Given the description of an element on the screen output the (x, y) to click on. 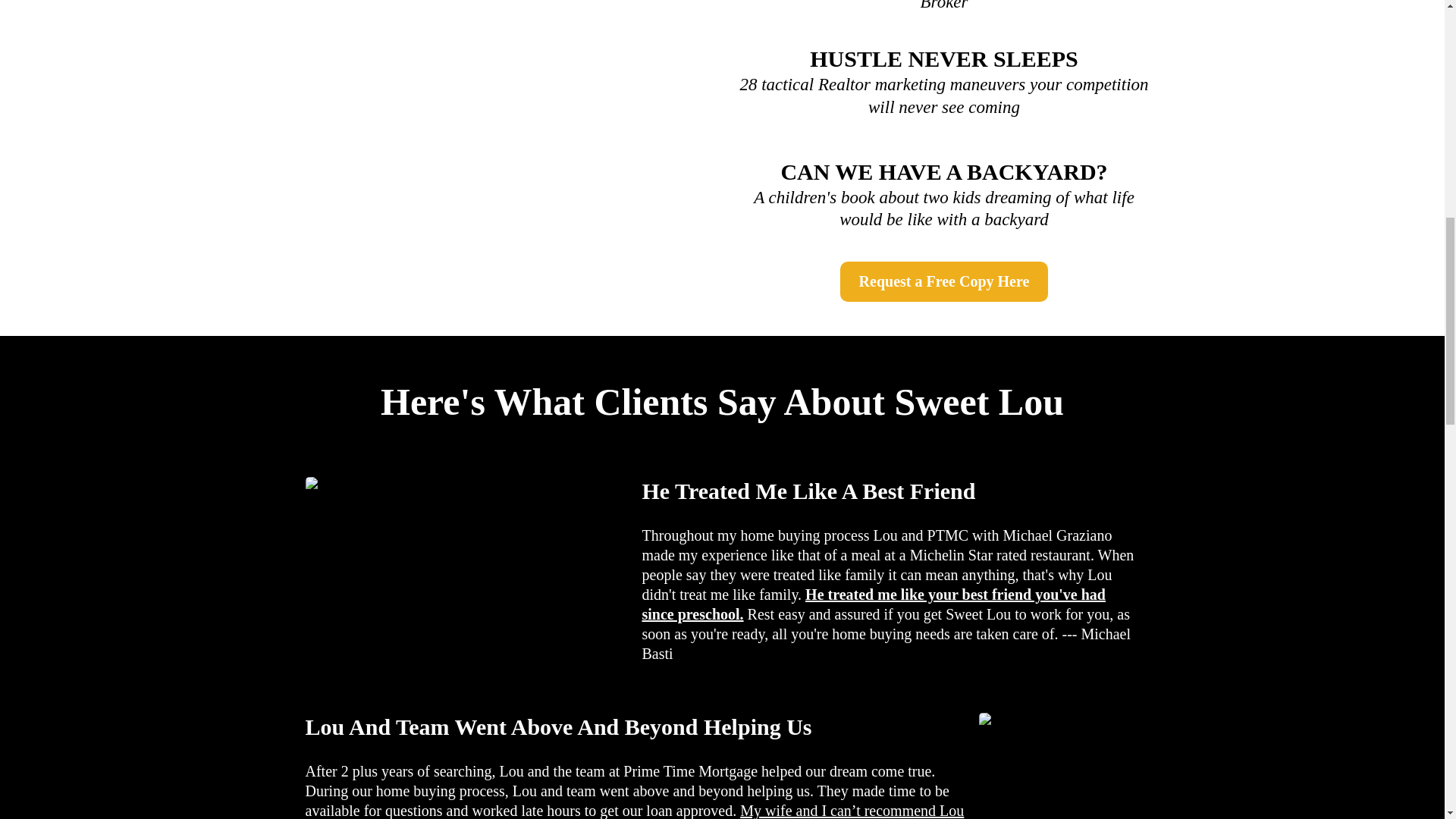
Request a Free Copy Here (944, 281)
